Given the description of an element on the screen output the (x, y) to click on. 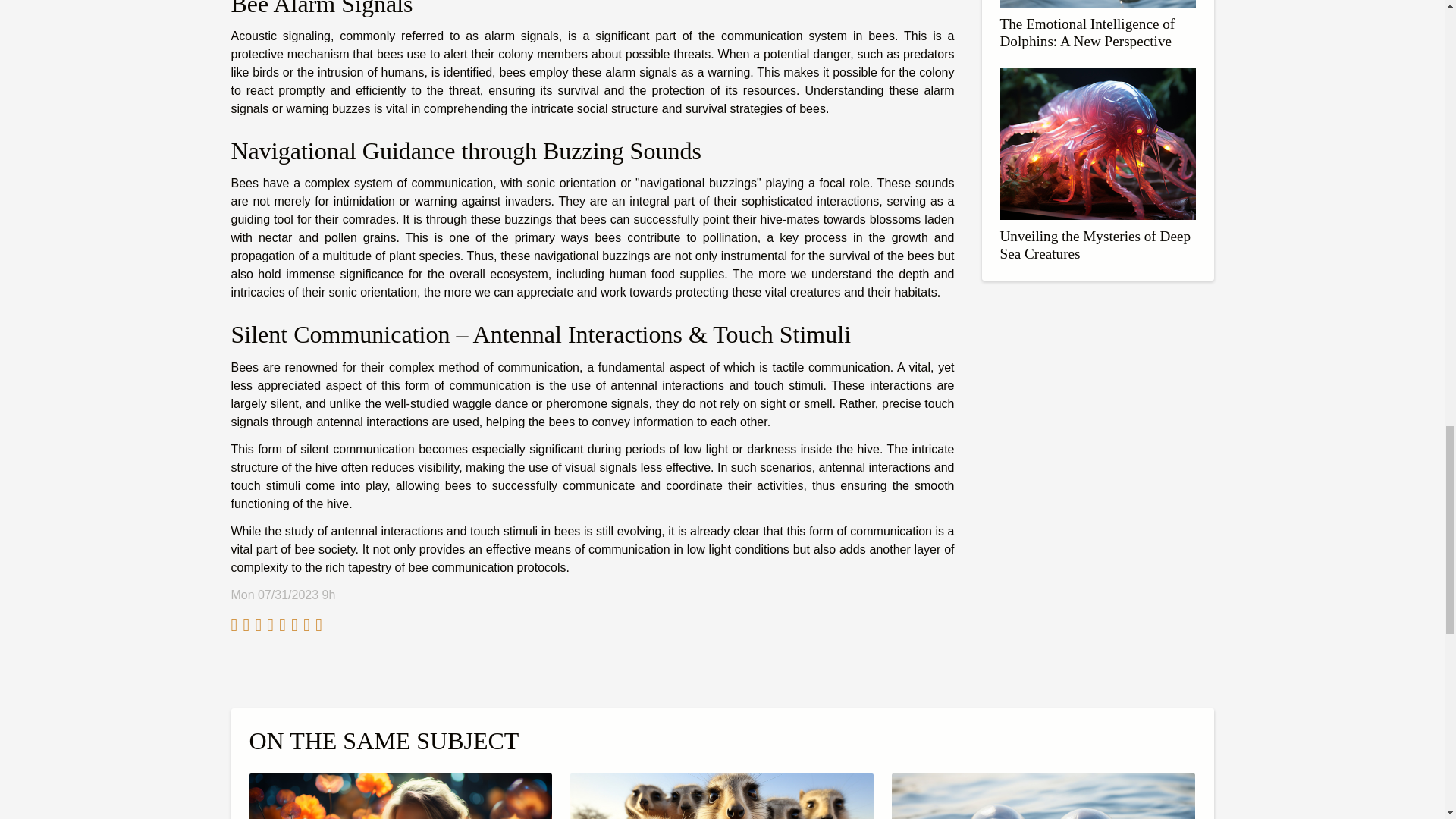
Unveiling the Mysteries of Deep Sea Creatures (1096, 142)
Unveiling the Mysteries of Deep Sea Creatures (1094, 244)
The Emotional Intelligence of Dolphins: A New Perspective (1086, 32)
The Emotional Intelligence of Dolphins: A New Perspective (1086, 32)
Unveiling the Mysteries of Deep Sea Creatures (1094, 244)
